Given the description of an element on the screen output the (x, y) to click on. 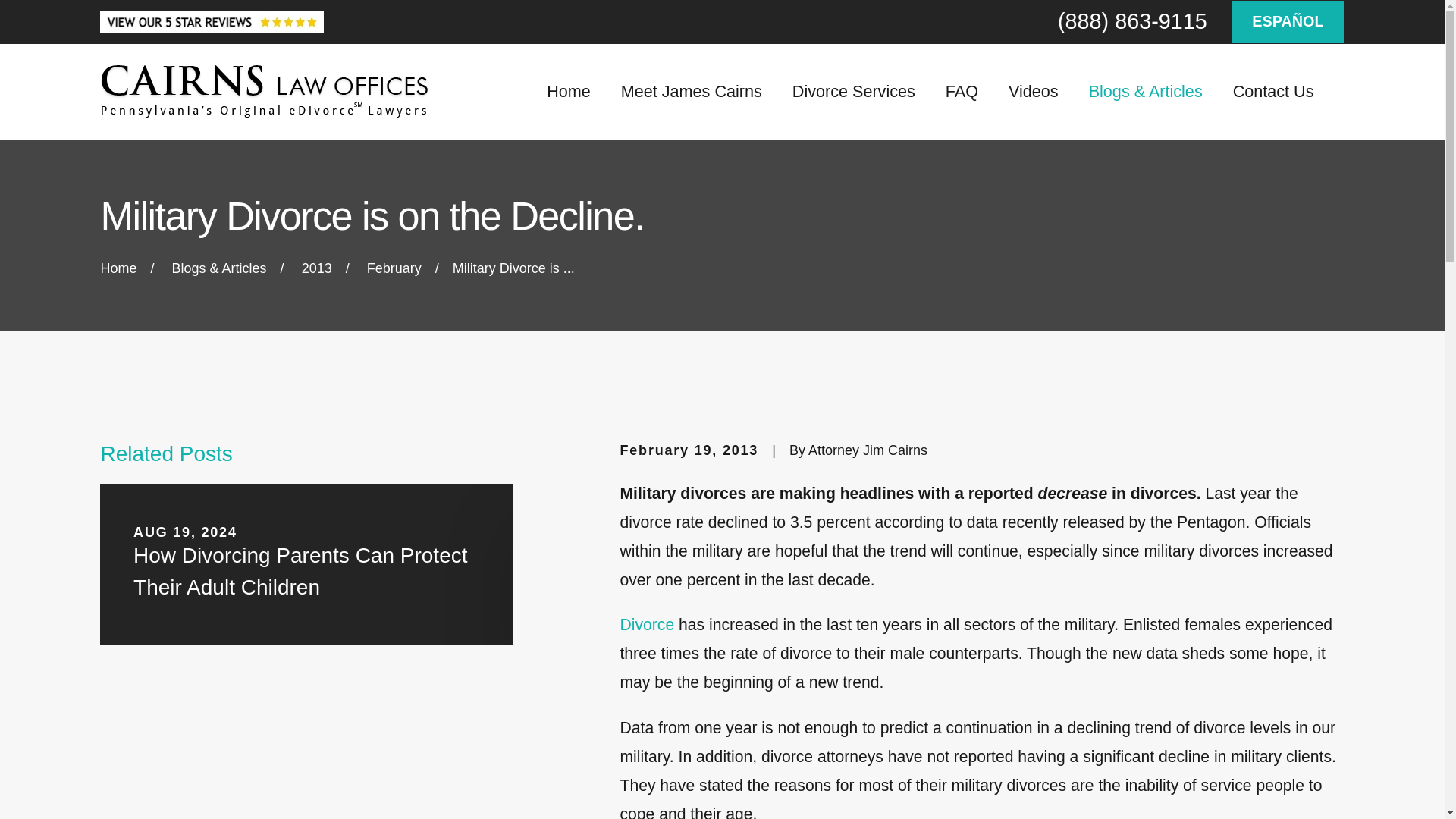
Videos (1033, 91)
Go Home (118, 268)
Divorce Services (853, 91)
Home (264, 91)
Meet James Cairns (691, 91)
